Given the description of an element on the screen output the (x, y) to click on. 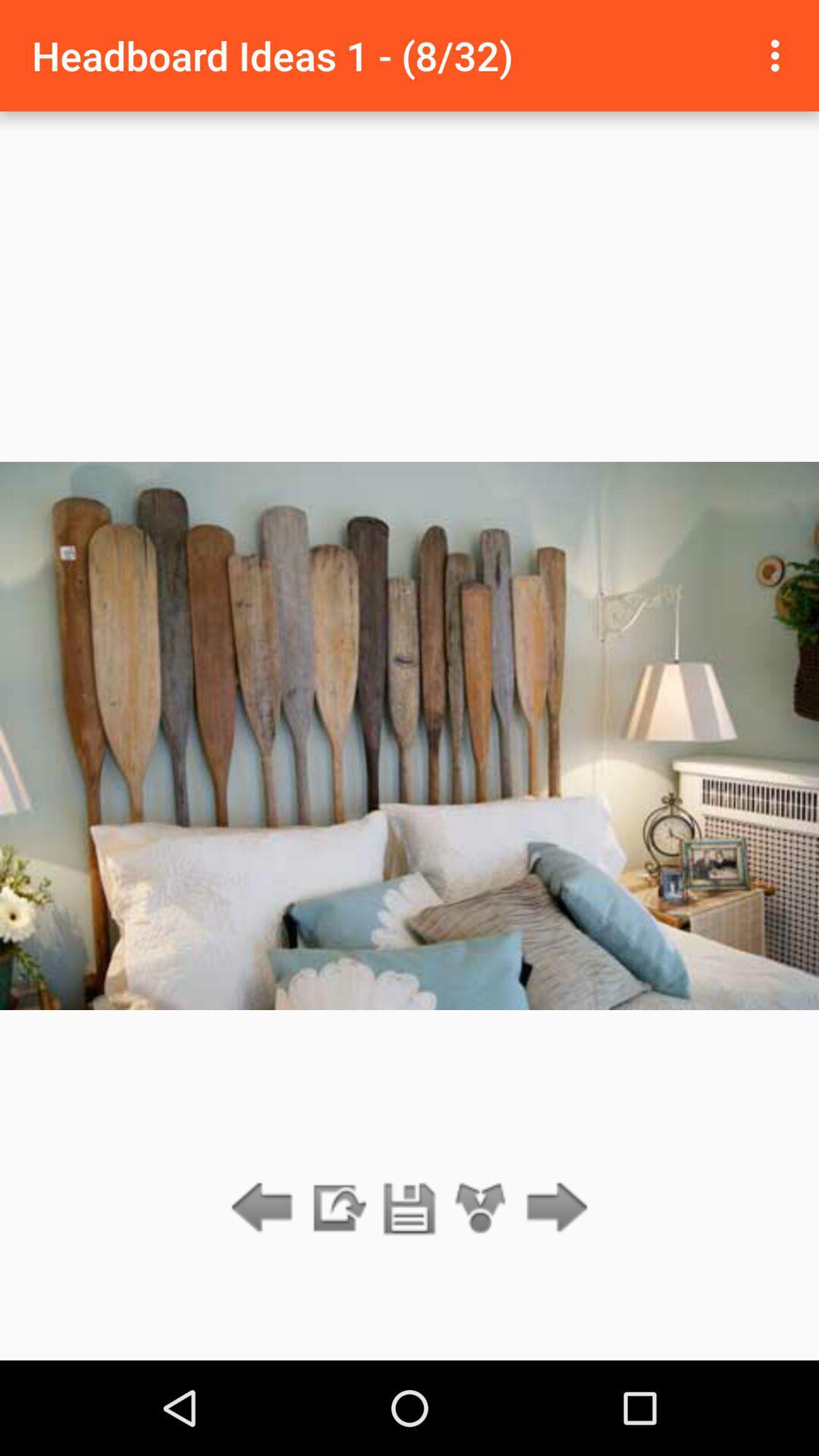
previous image (266, 1209)
